Given the description of an element on the screen output the (x, y) to click on. 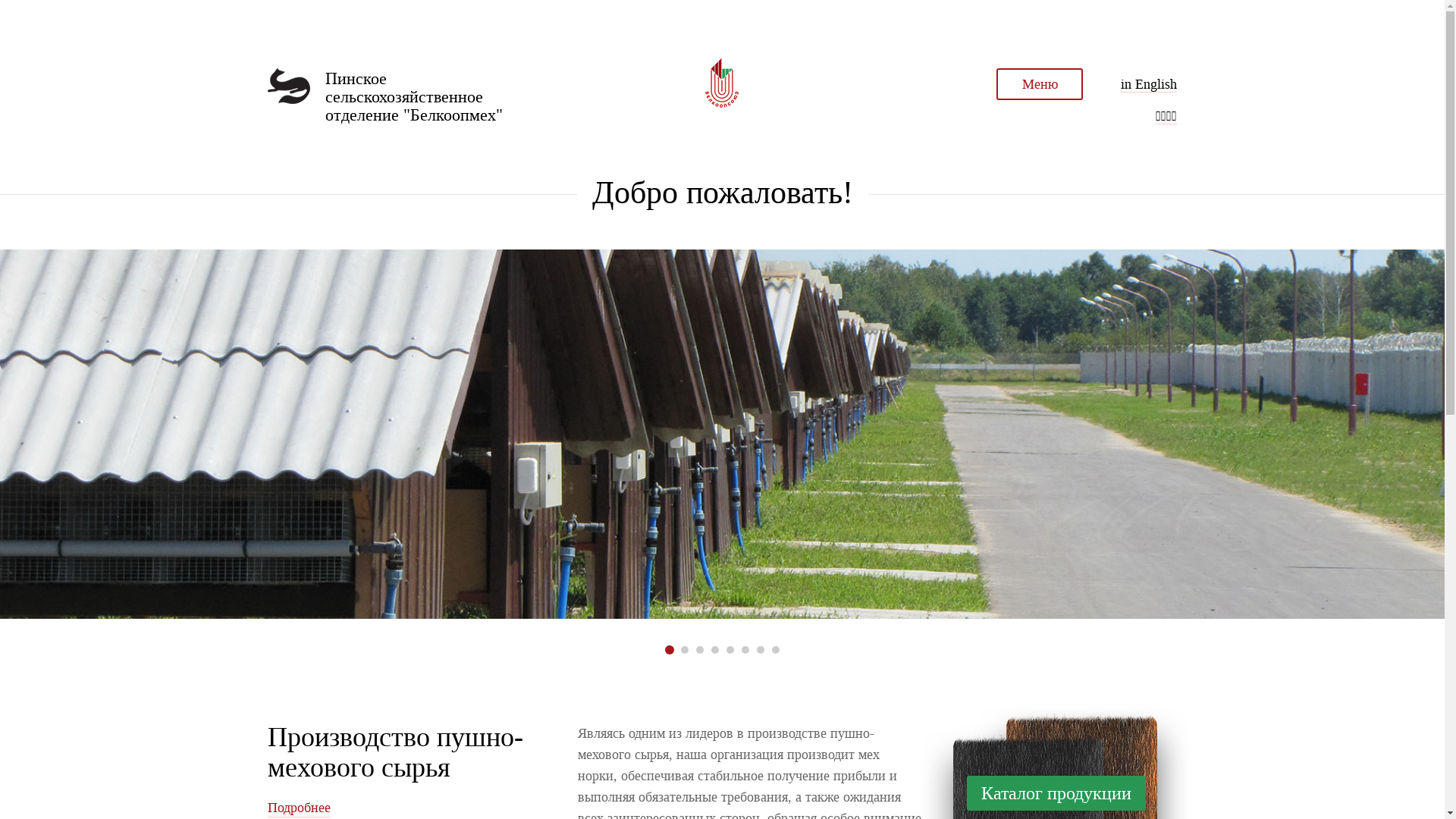
in English Element type: text (1148, 84)
